Given the description of an element on the screen output the (x, y) to click on. 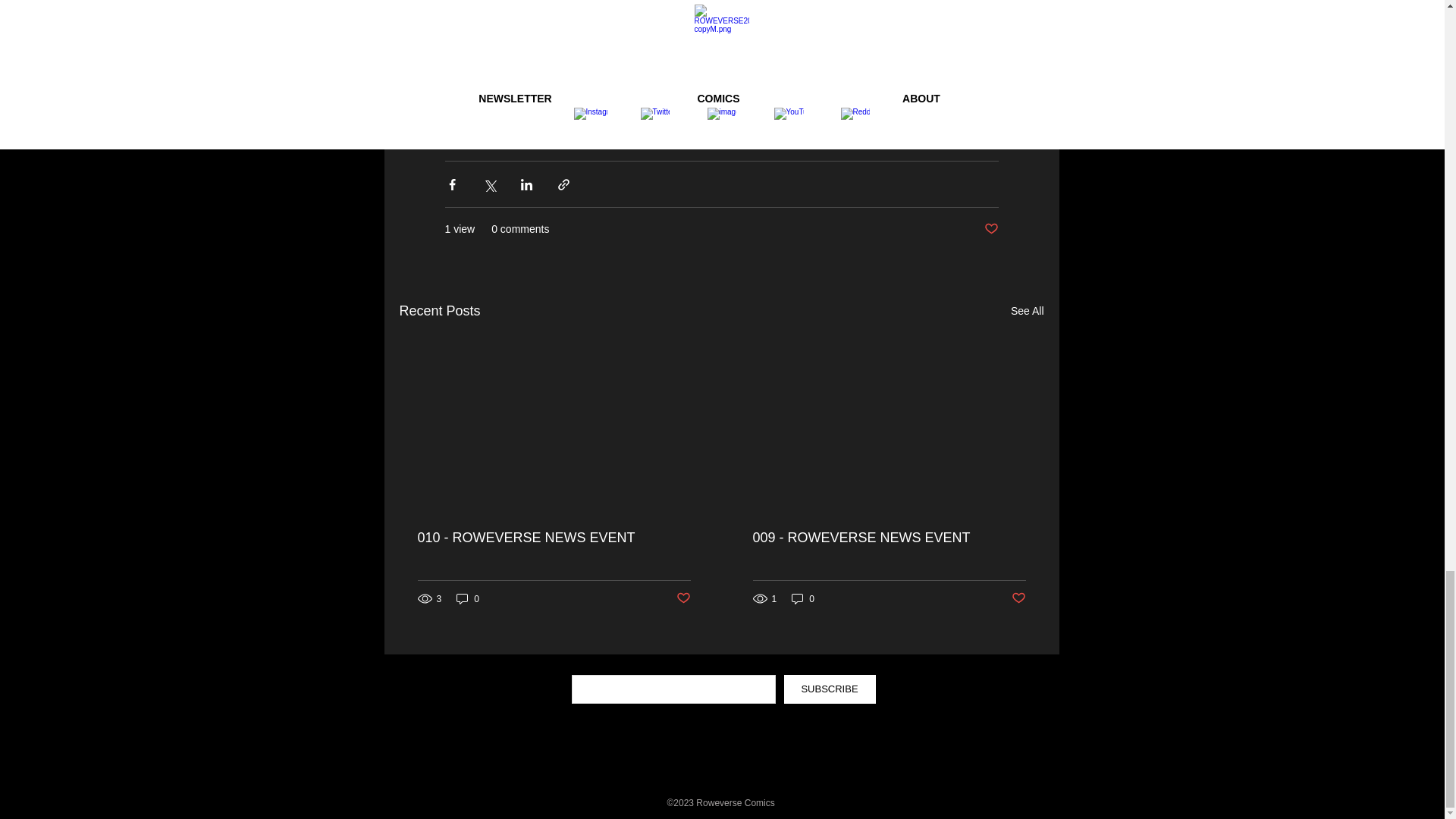
010 - ROWEVERSE NEWS EVENT (553, 537)
Post not marked as liked (991, 229)
See All (1026, 311)
Post not marked as liked (1018, 598)
SUBSCRIBE (830, 688)
diebackcomic.com (500, 10)
009 - ROWEVERSE NEWS EVENT (888, 537)
0 (802, 598)
0 (467, 598)
Post not marked as liked (683, 598)
